Given the description of an element on the screen output the (x, y) to click on. 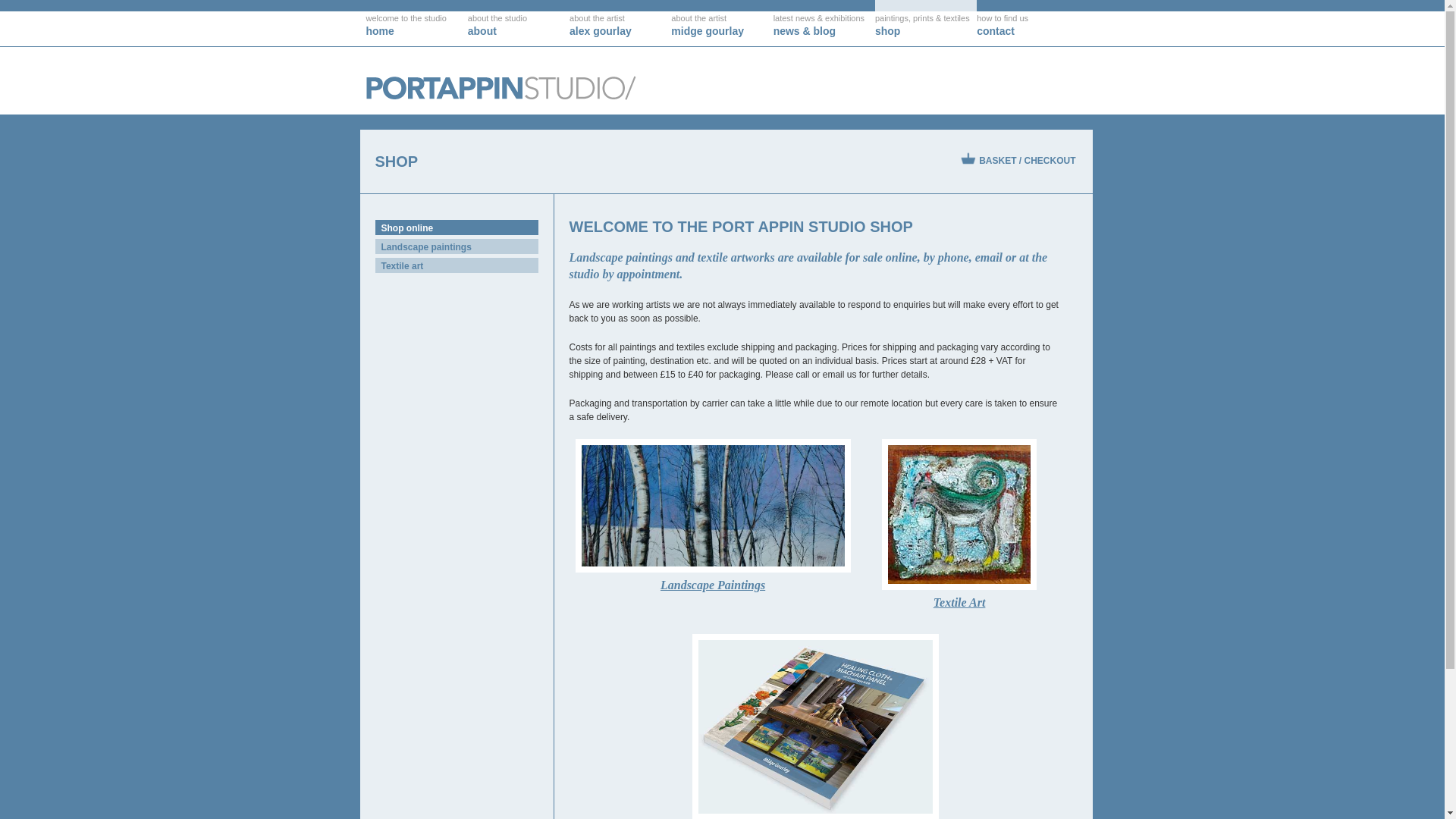
home (416, 22)
Commemorative book (816, 726)
contact (1027, 22)
Textile art (455, 264)
Shop online (455, 227)
about (518, 22)
alex gourlay (620, 22)
midge gourlay (722, 22)
Landscape Paintings (712, 519)
Landscape paintings (455, 246)
shop (925, 22)
Textile Art (959, 528)
